Given the description of an element on the screen output the (x, y) to click on. 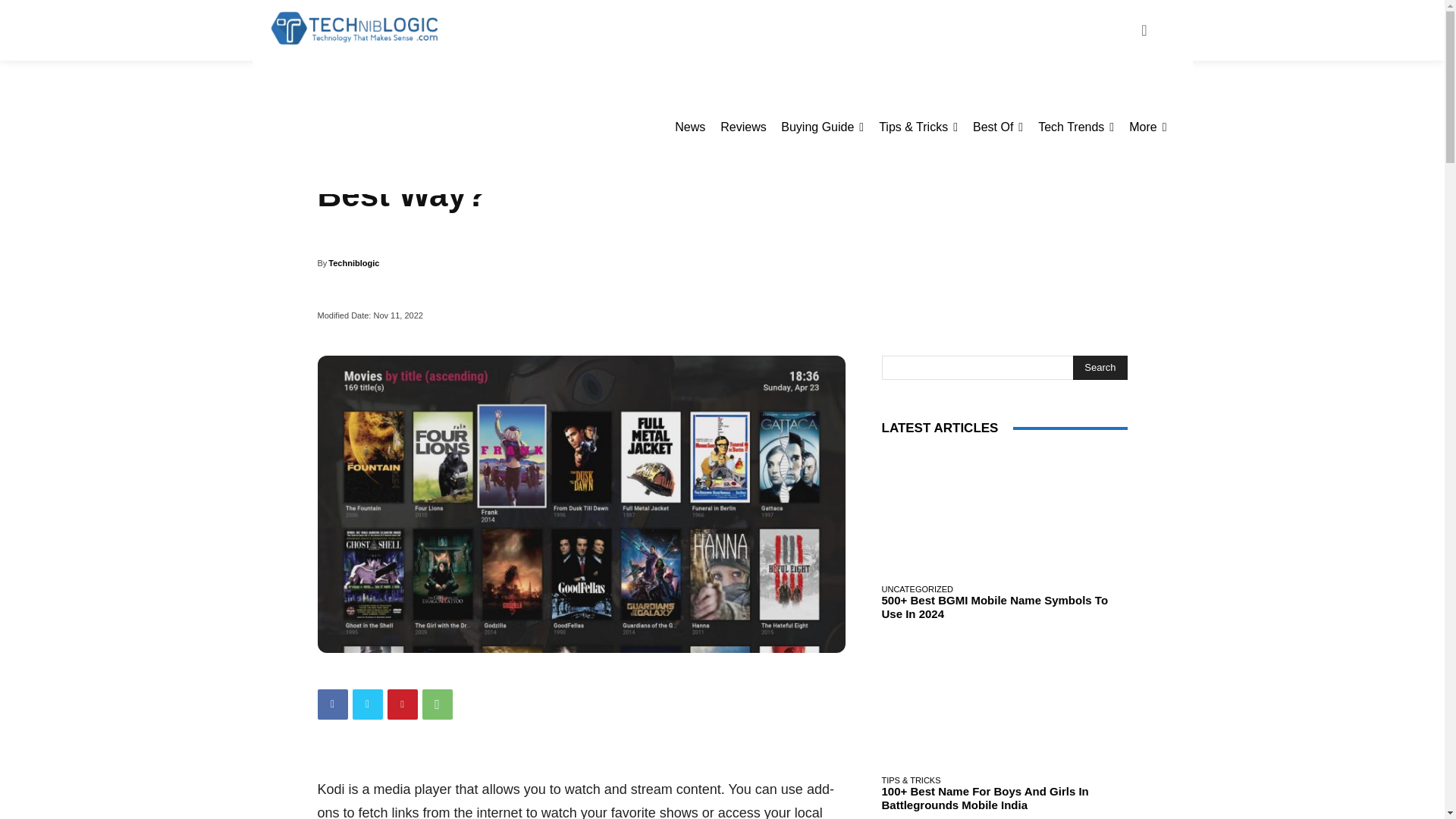
Best Of (997, 127)
News (689, 127)
Best Of (997, 127)
Techniblogic Logo (352, 28)
Buying Guide (821, 127)
Tech Trends Gadgets (1075, 127)
Reviews (743, 127)
